Given the description of an element on the screen output the (x, y) to click on. 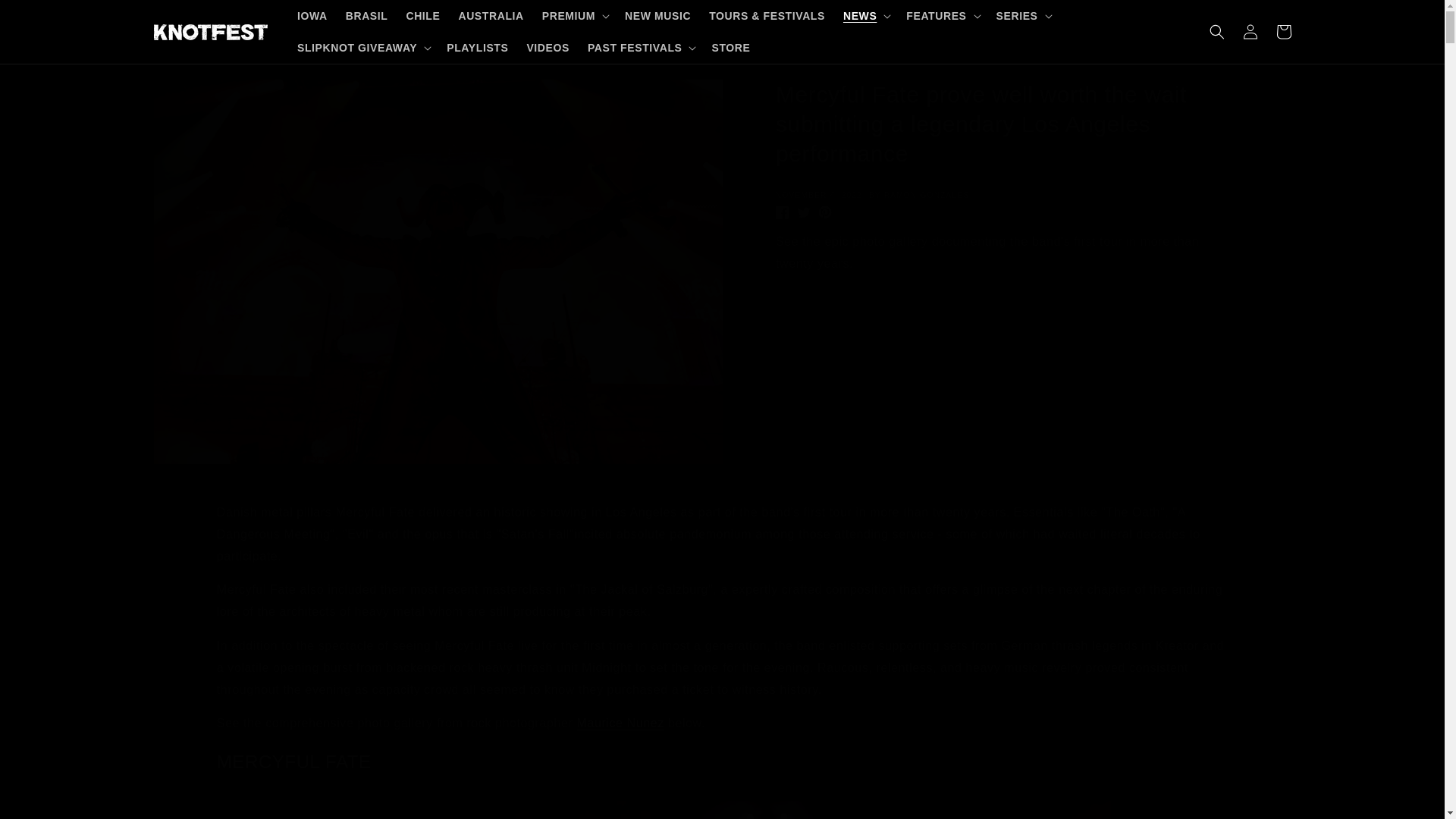
Skip to content (45, 17)
